Given the description of an element on the screen output the (x, y) to click on. 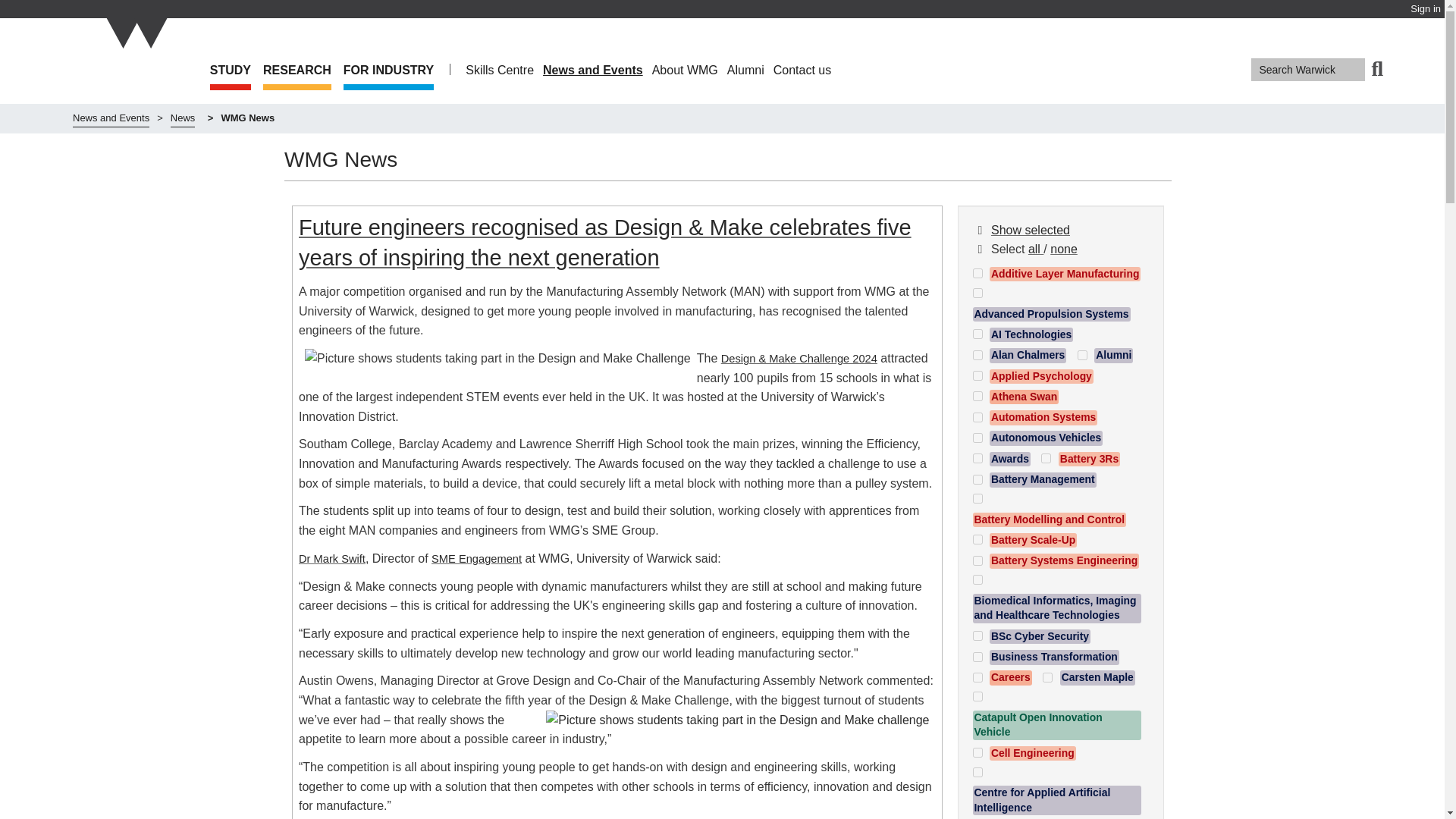
Advanced Propulsion Systems (976, 293)
Additive Layer Manufacturing (1056, 276)
BSc Cyber Security (976, 635)
Autonomous Vehicles (1037, 440)
University of Warwick homepage (135, 73)
Battery Systems Engineering (976, 560)
Automation Systems (976, 417)
Skills Centre (499, 70)
About WMG (684, 70)
Advanced Propulsion Systems (1056, 307)
